Given the description of an element on the screen output the (x, y) to click on. 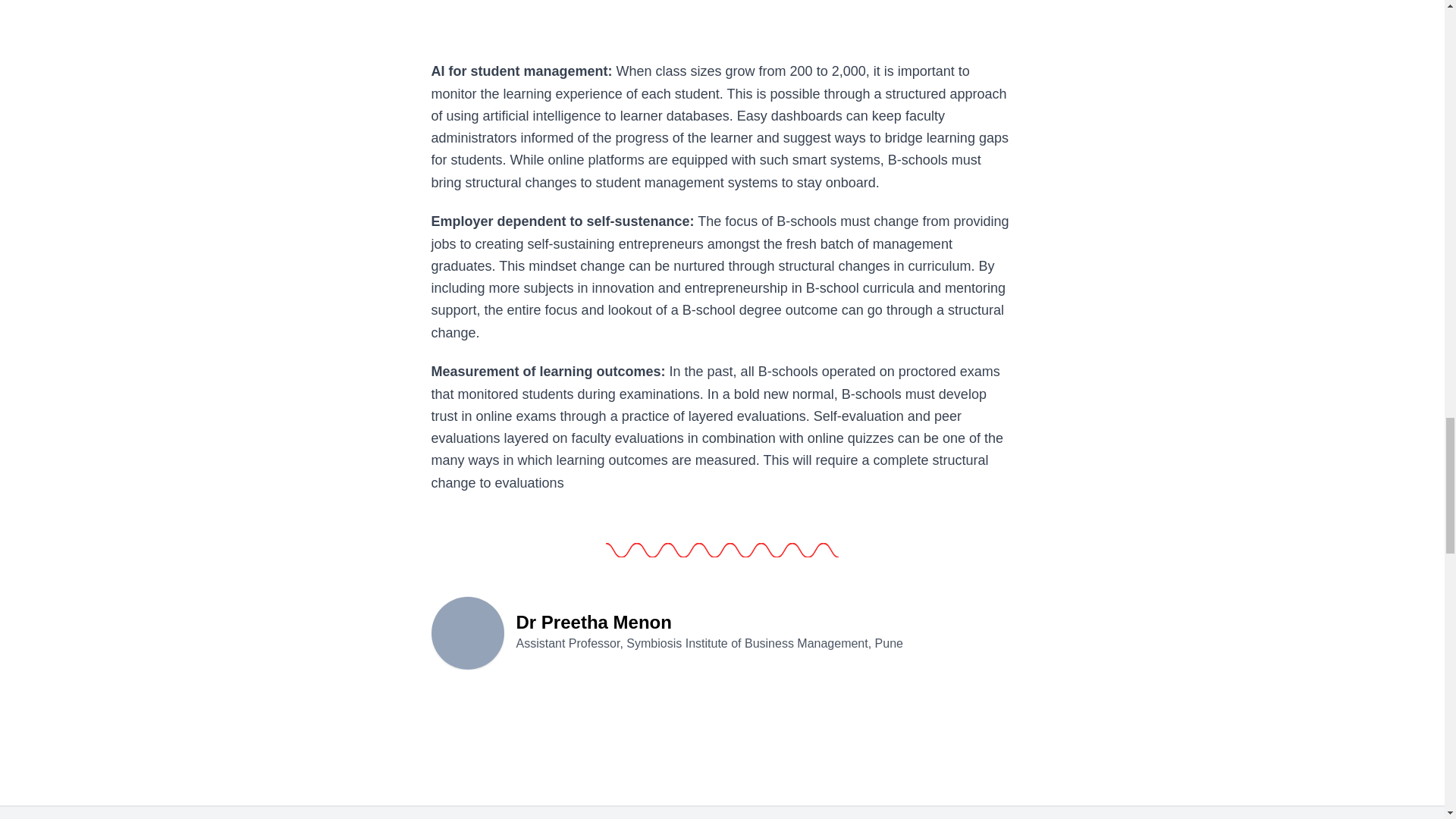
Dr Preetha Menon (466, 631)
